Given the description of an element on the screen output the (x, y) to click on. 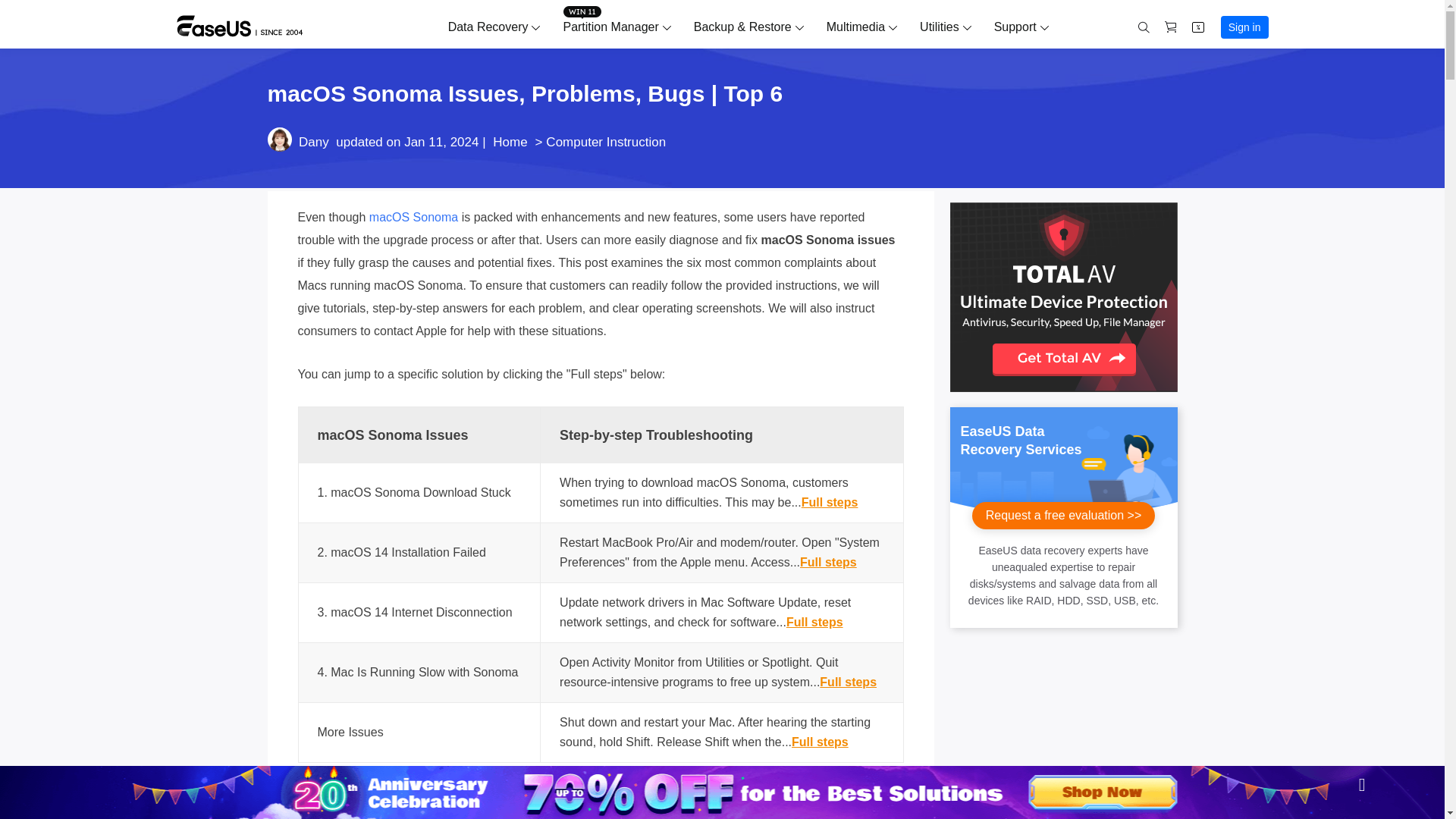
Data Recovery (488, 26)
Partition Manager (609, 26)
